Given the description of an element on the screen output the (x, y) to click on. 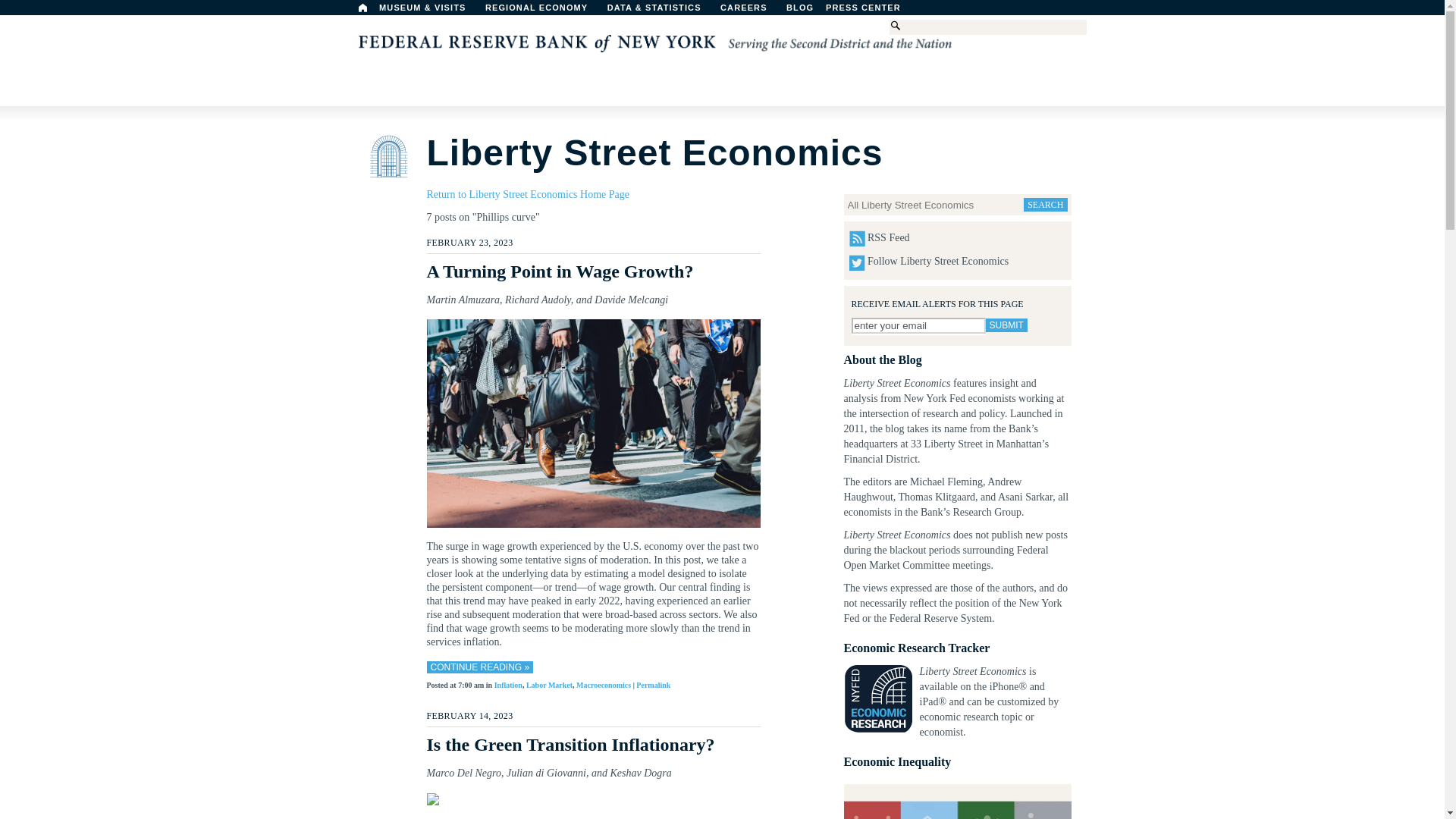
BLOG (839, 11)
Submit (1006, 325)
PRESS CENTER (870, 11)
CAREERS (751, 11)
Home (362, 8)
REGIONAL ECONOMY (543, 11)
enter your email (917, 325)
